Given the description of an element on the screen output the (x, y) to click on. 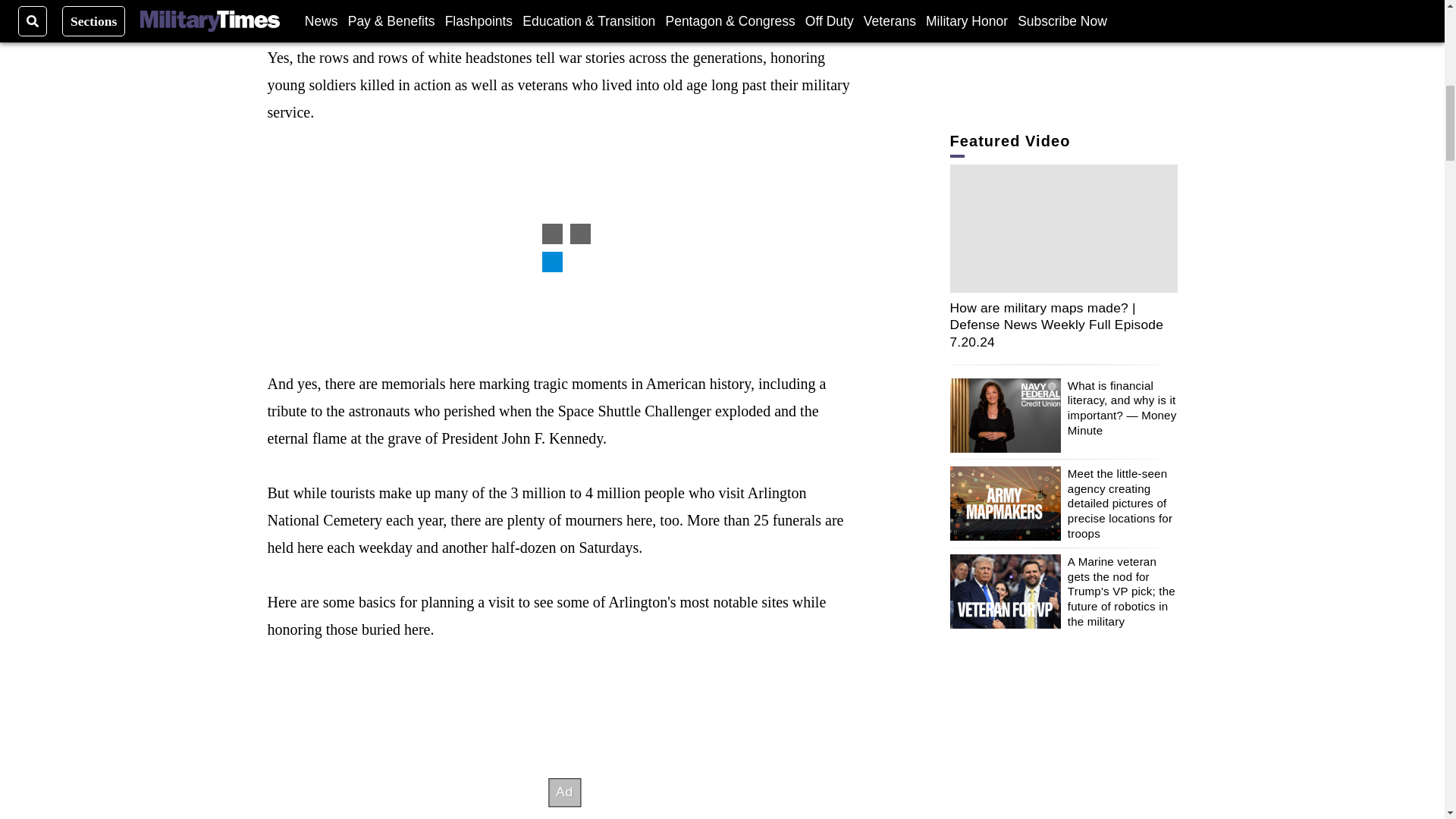
3rd party ad content (563, 248)
